Given the description of an element on the screen output the (x, y) to click on. 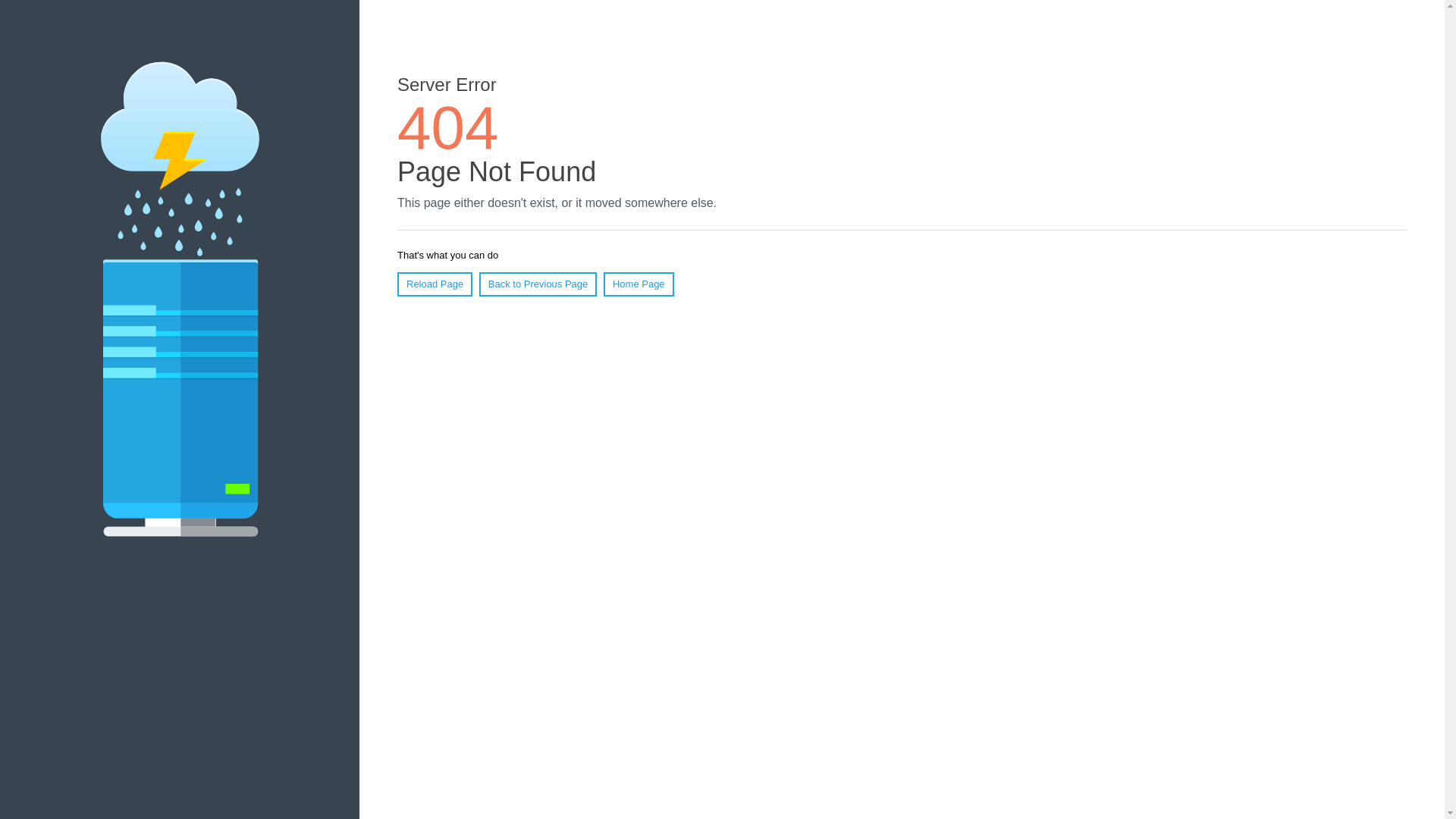
Home Page Element type: text (638, 284)
Reload Page Element type: text (434, 284)
Back to Previous Page Element type: text (538, 284)
